Given the description of an element on the screen output the (x, y) to click on. 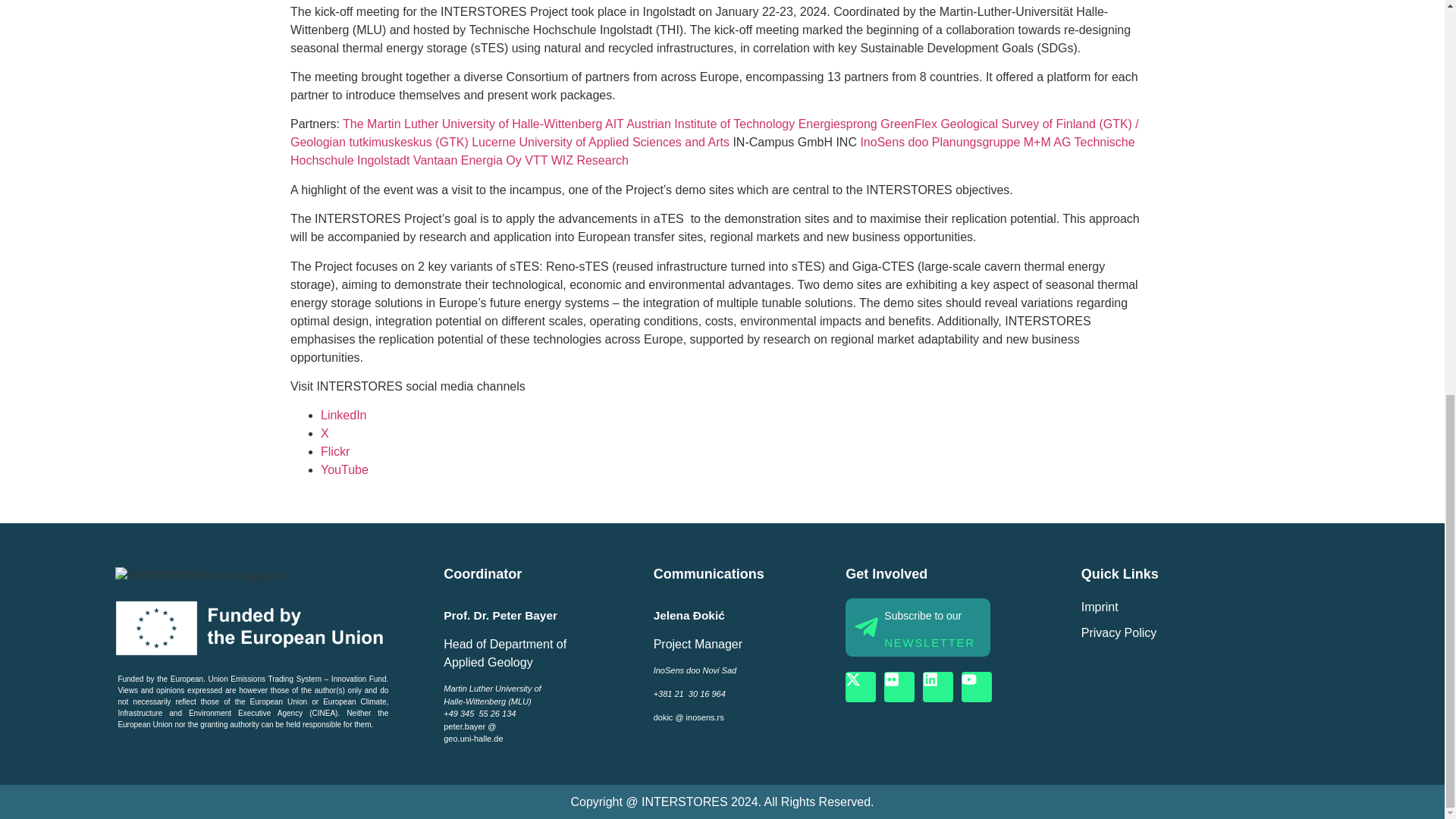
The Martin Luther University of Halle-Wittenberg (470, 123)
InoSens doo (894, 141)
Energiesprong (836, 123)
AIT Austrian Institute of Technology (699, 123)
INTERSTORES hor negative (199, 576)
Lucerne University of Applied Sciences and Arts (600, 141)
Technische Hochschule Ingolstadt (711, 151)
WIZ Research (588, 160)
Vantaan Energia Oy (466, 160)
LinkedIn (343, 414)
GreenFlex (908, 123)
VTT (535, 160)
